Given the description of an element on the screen output the (x, y) to click on. 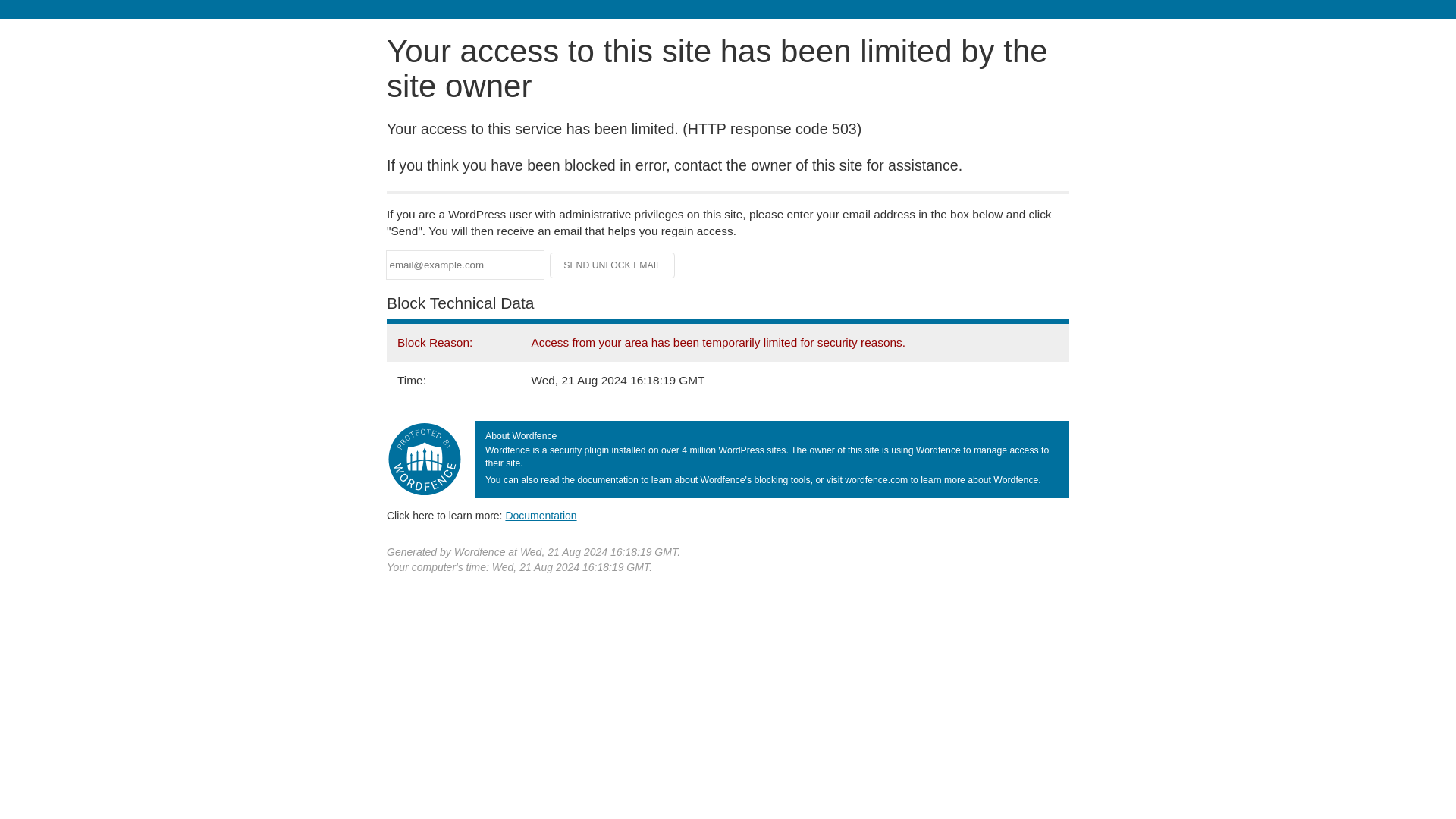
Send Unlock Email (612, 265)
Send Unlock Email (612, 265)
Documentation (540, 515)
